Given the description of an element on the screen output the (x, y) to click on. 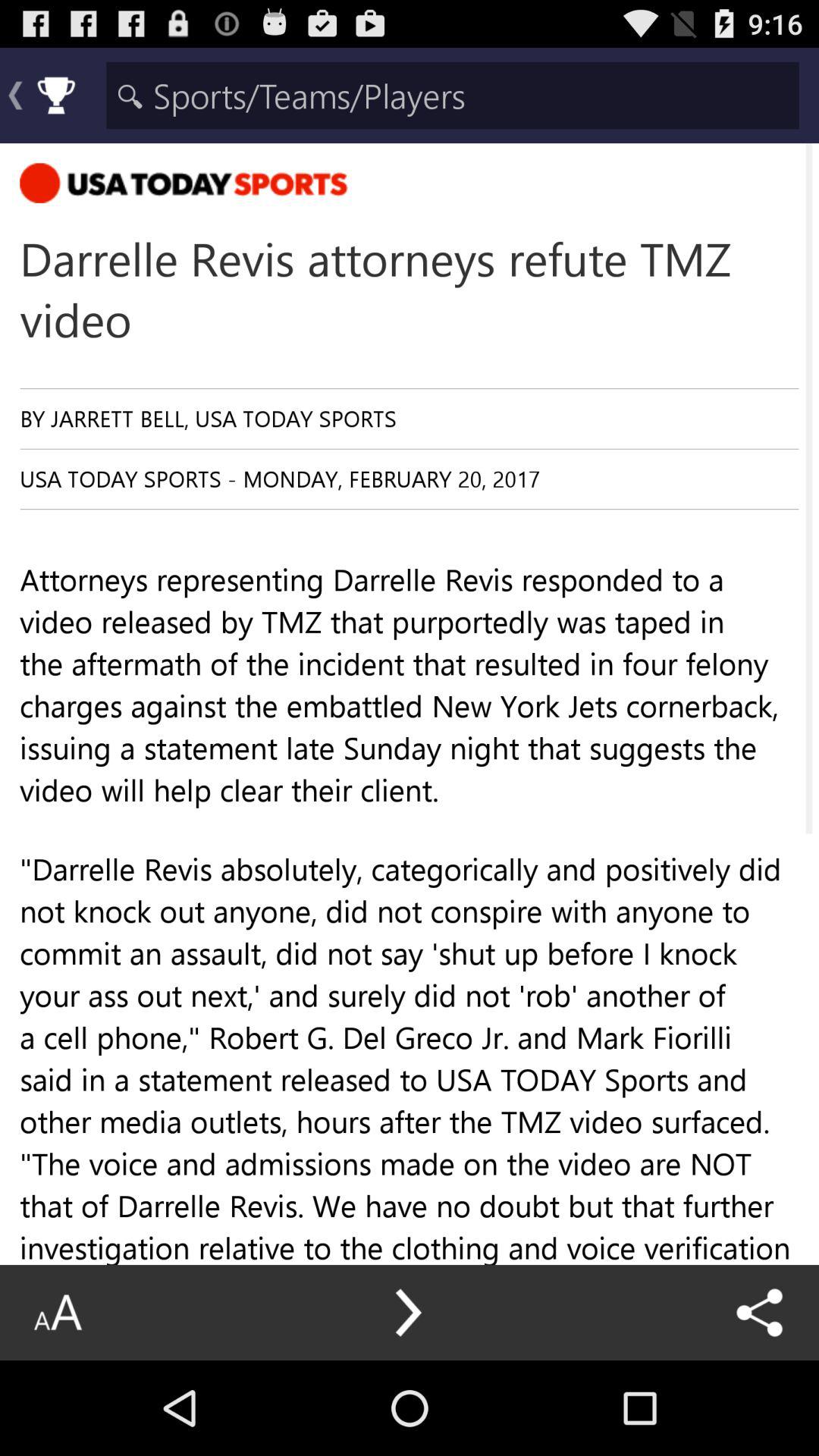
swipe to the the 11 second item (409, 1355)
